Given the description of an element on the screen output the (x, y) to click on. 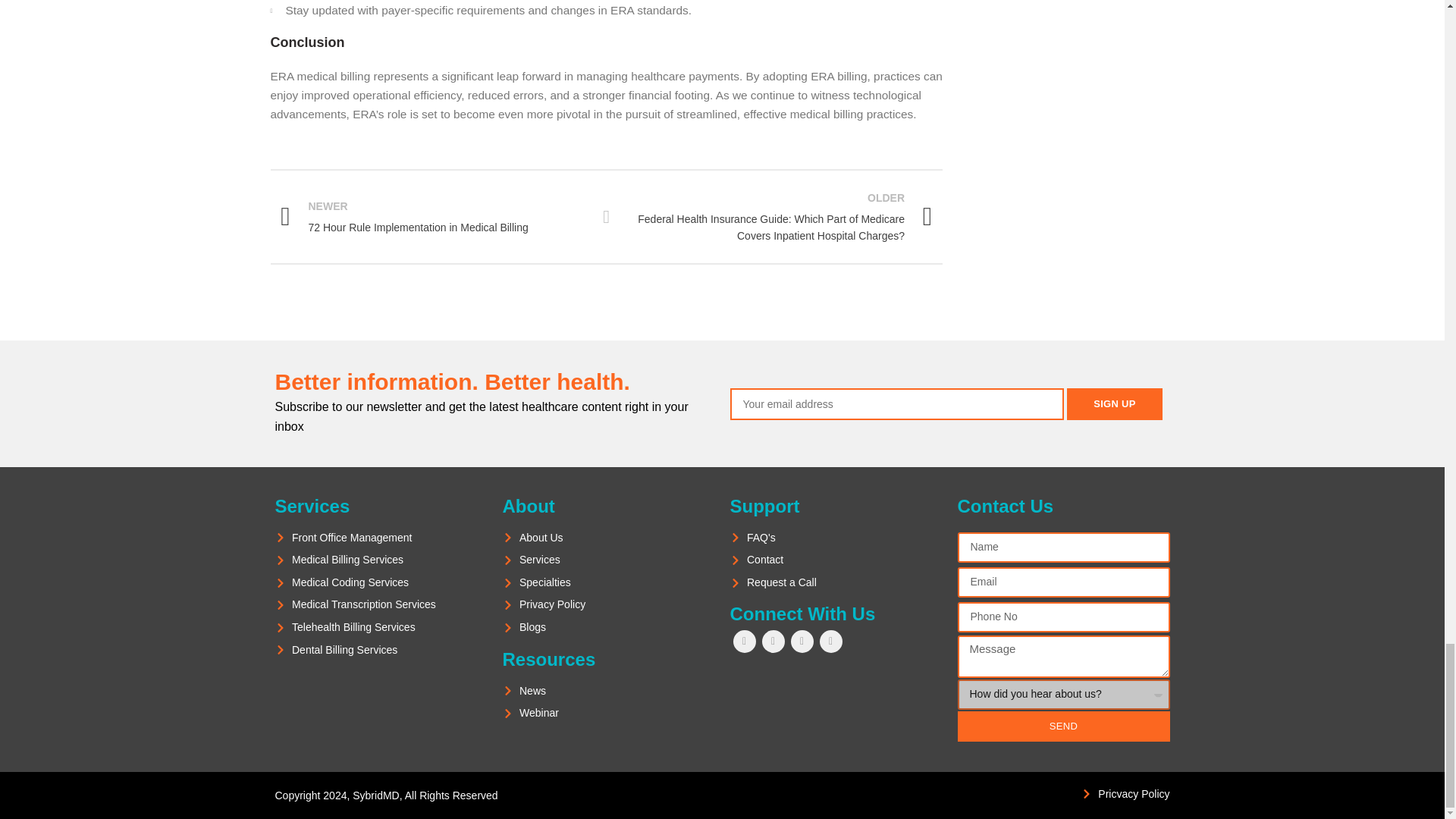
Sign up (1114, 404)
